Given the description of an element on the screen output the (x, y) to click on. 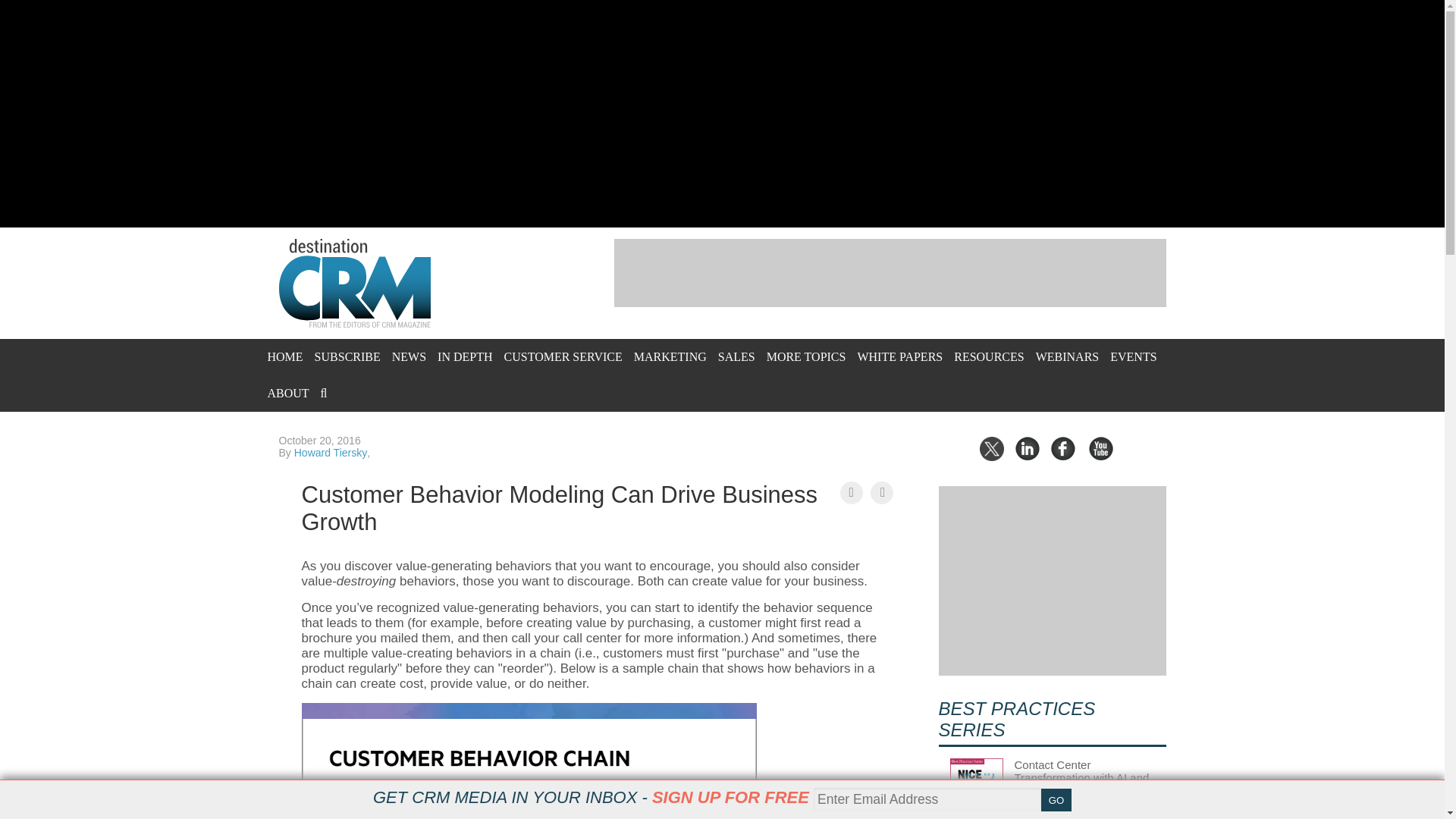
CUSTOMER SERVICE (563, 357)
WHITE PAPERS (899, 357)
GET CRM MEDIA IN YOUR INBOX - SIGN UP FOR FREE (590, 797)
Customer Service (563, 357)
RESOURCES (988, 357)
SALES (736, 357)
HOME (284, 357)
NEWS (408, 357)
MARKETING (669, 357)
IN DEPTH (465, 357)
